Given the description of an element on the screen output the (x, y) to click on. 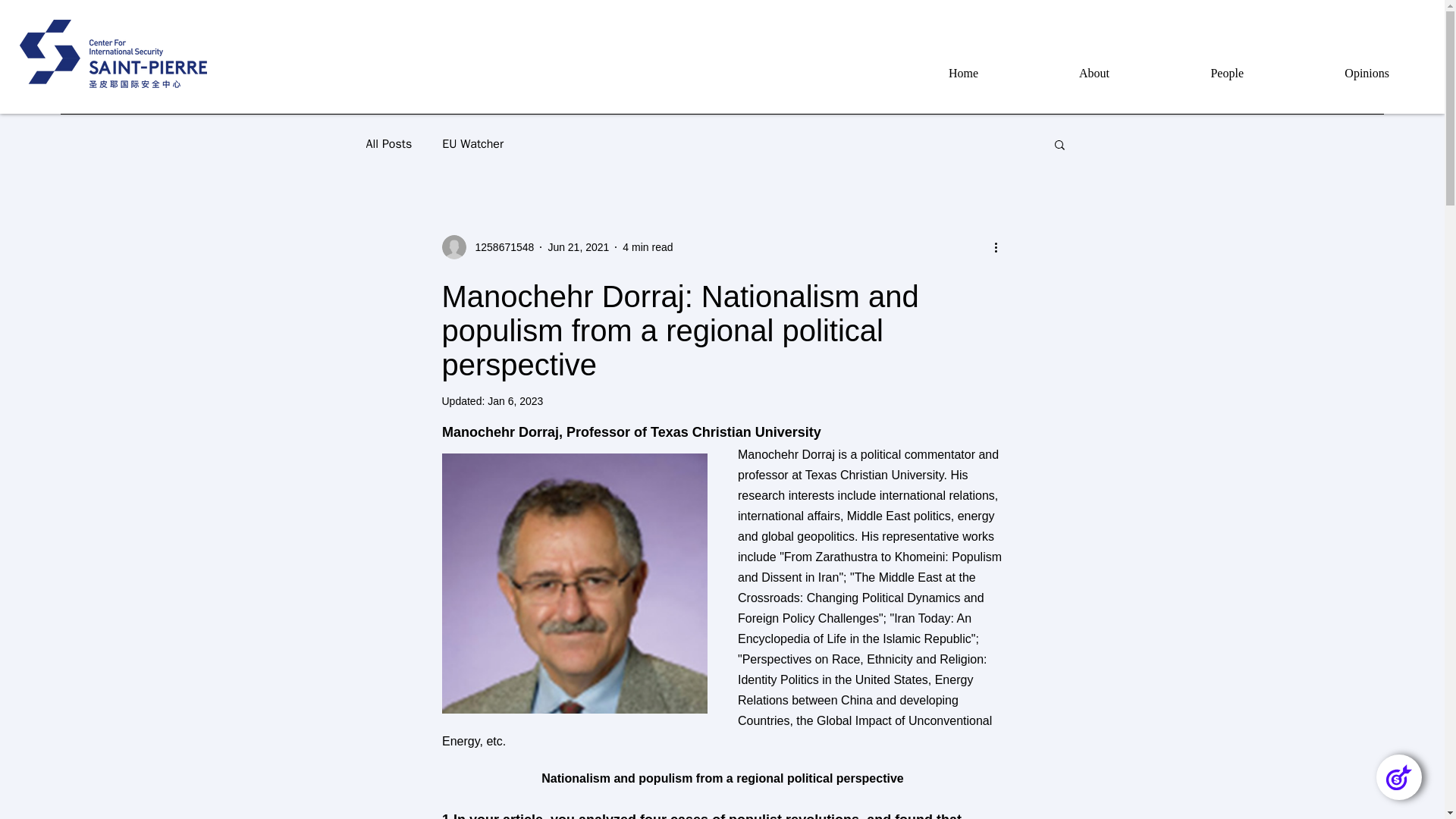
1258671548 (487, 247)
About (1055, 73)
People (1188, 73)
Jan 6, 2023 (515, 400)
4 min read (647, 246)
All Posts (388, 144)
Jun 21, 2021 (577, 246)
Home (924, 73)
EU Watcher (472, 144)
Opinions (1327, 73)
1258671548 (499, 247)
